Given the description of an element on the screen output the (x, y) to click on. 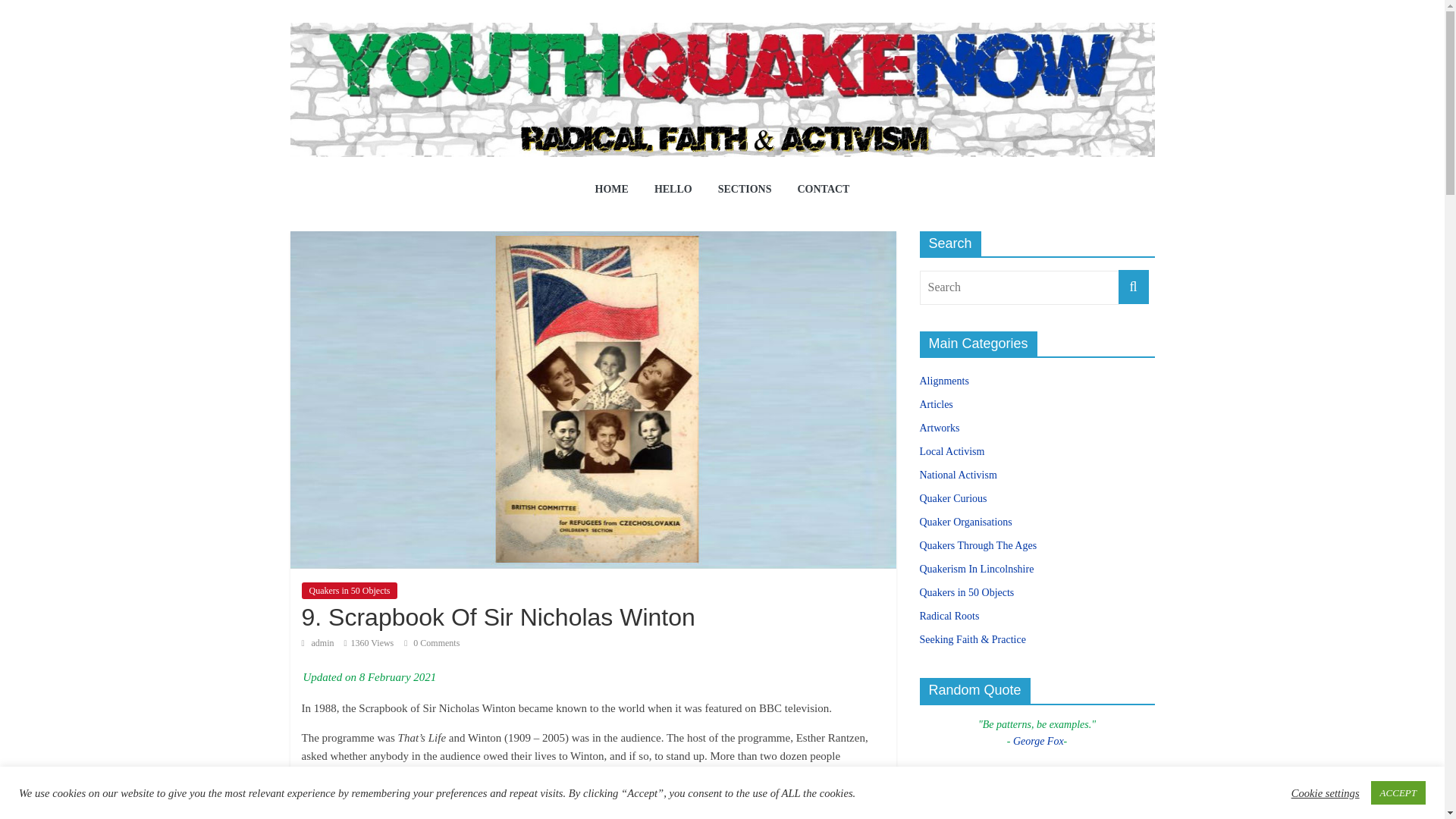
National Activism (956, 474)
HELLO (673, 189)
George Fox (1038, 740)
HOME (611, 189)
Artworks (938, 428)
admin (323, 643)
Quakers in 50 Objects (349, 590)
Quakerism In Lincolnshire (975, 568)
Tweets by YouthQuakeNow (975, 818)
Local Activism (951, 451)
